Given the description of an element on the screen output the (x, y) to click on. 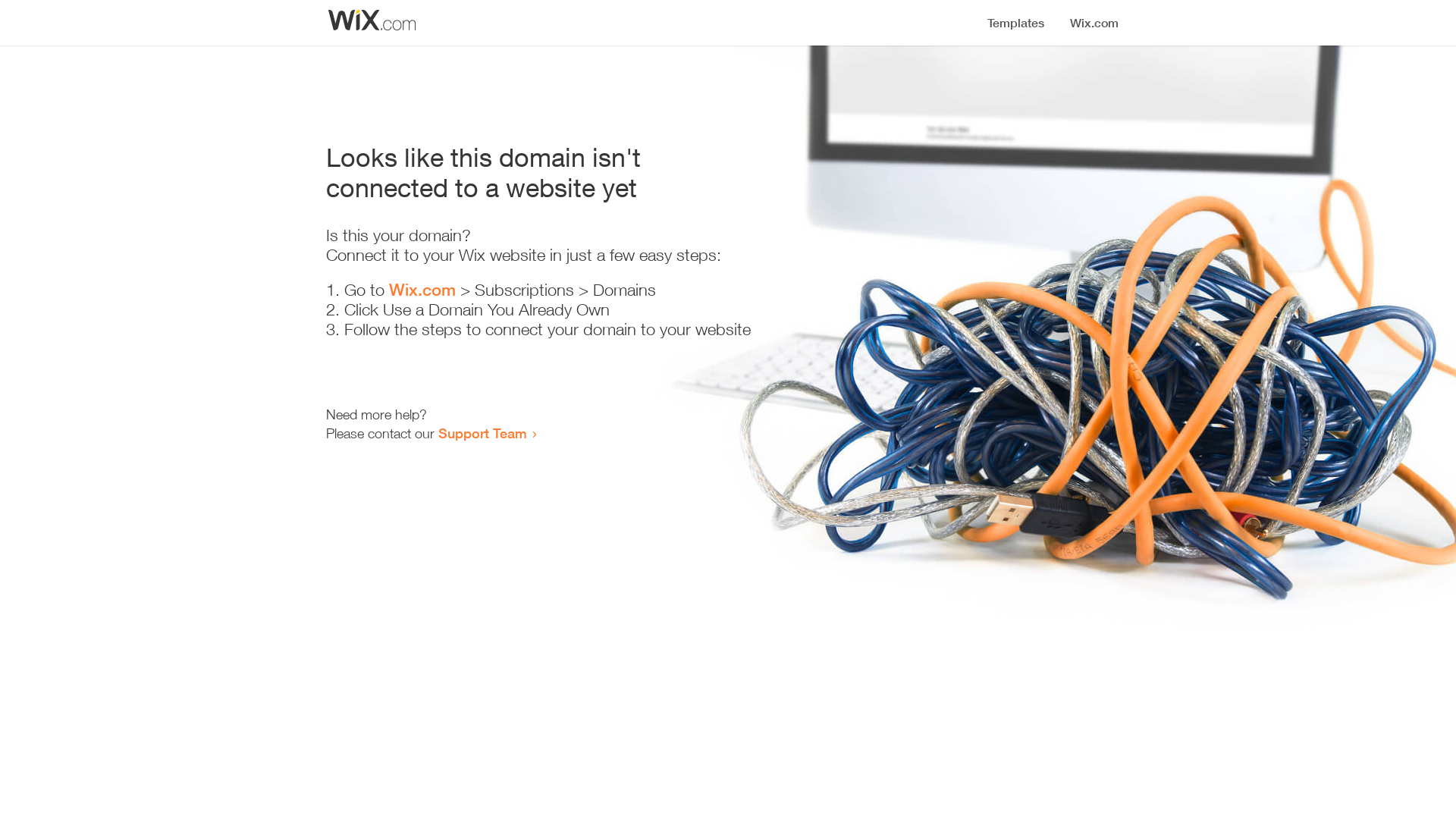
Wix.com Element type: text (422, 289)
Support Team Element type: text (482, 432)
